Given the description of an element on the screen output the (x, y) to click on. 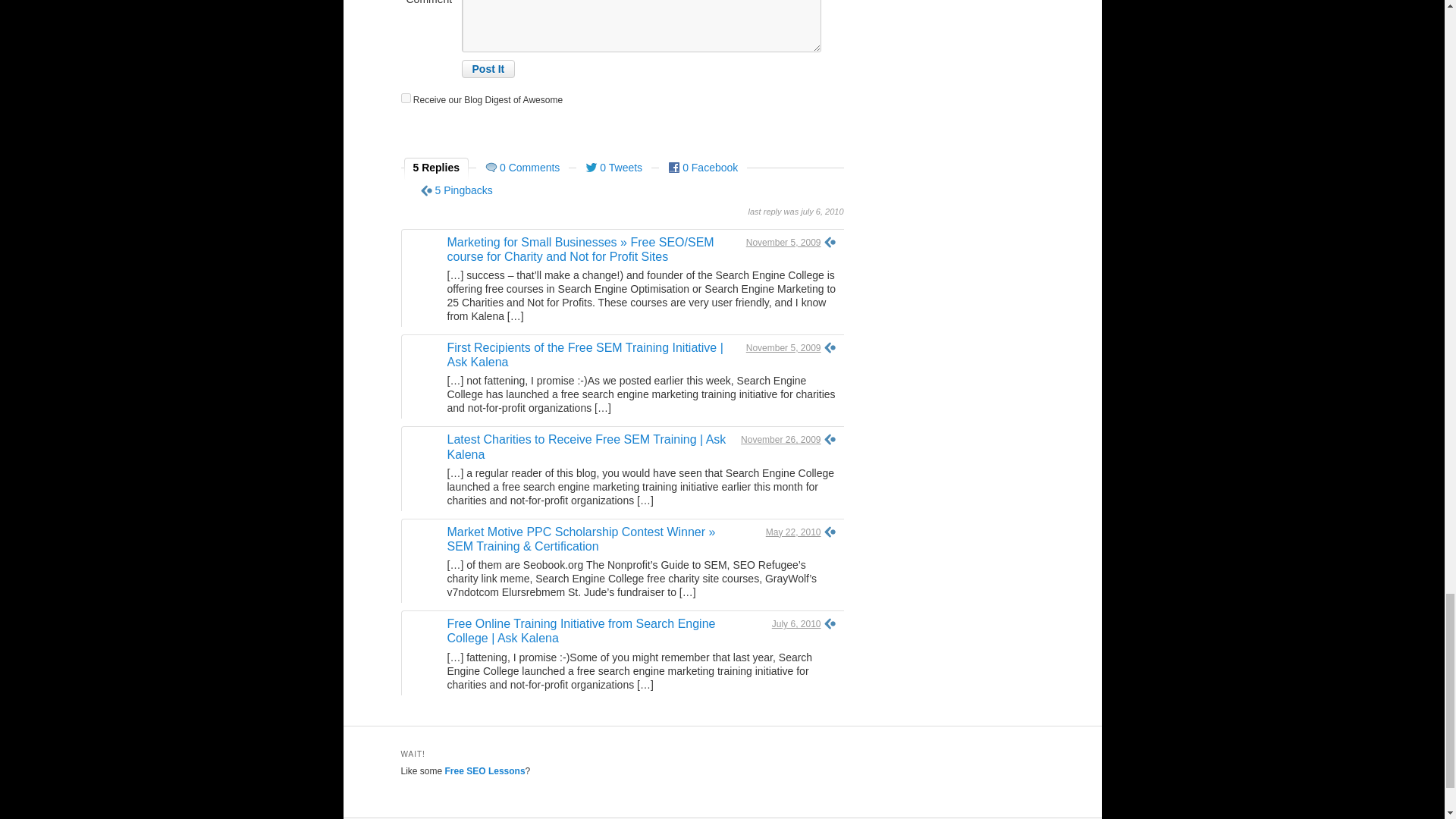
Post It (488, 68)
1 (405, 98)
